Given the description of an element on the screen output the (x, y) to click on. 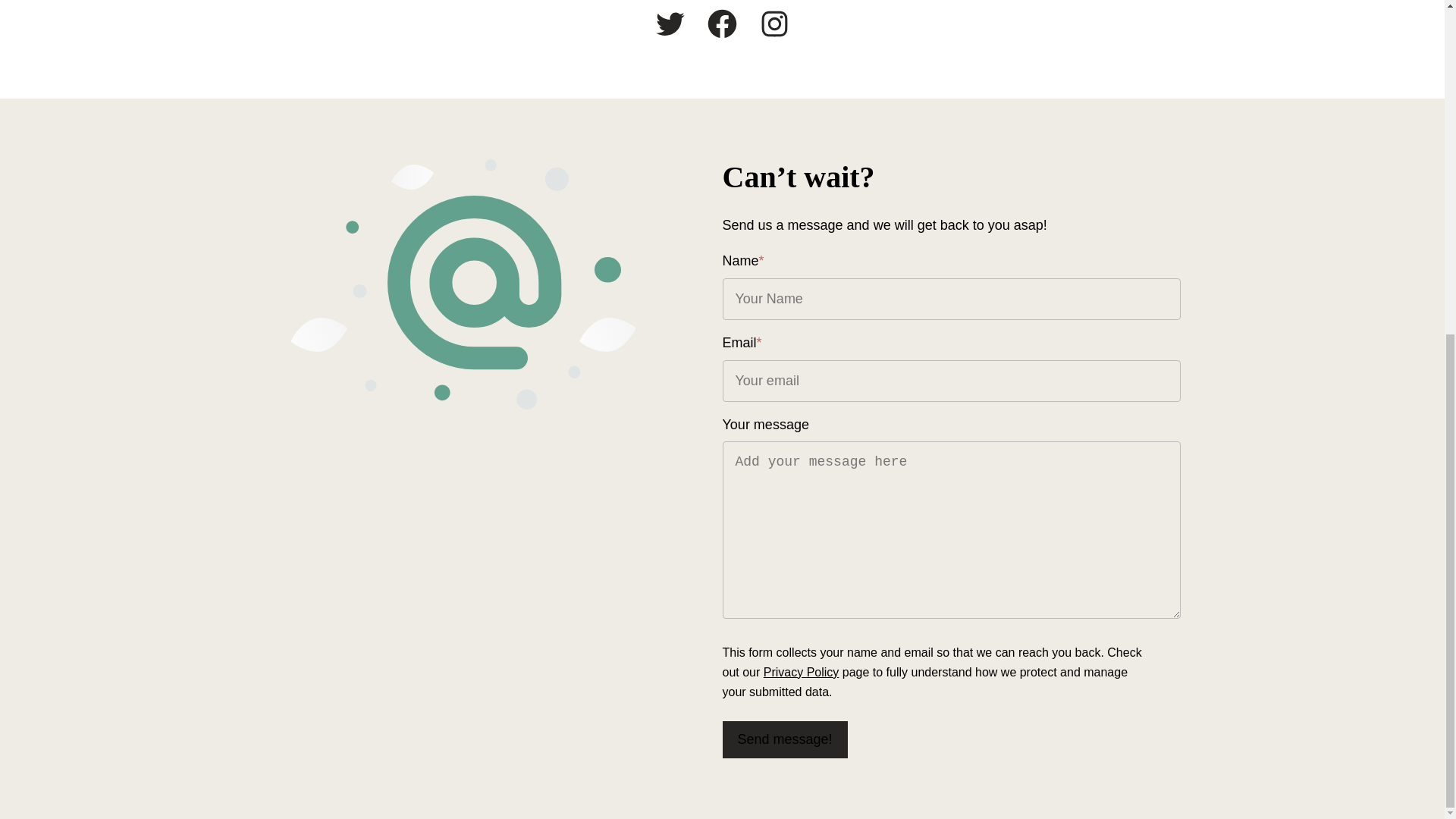
Privacy Policy (801, 671)
Twitter (669, 23)
Send message! (784, 739)
Instagram (774, 23)
Facebook (721, 23)
